Given the description of an element on the screen output the (x, y) to click on. 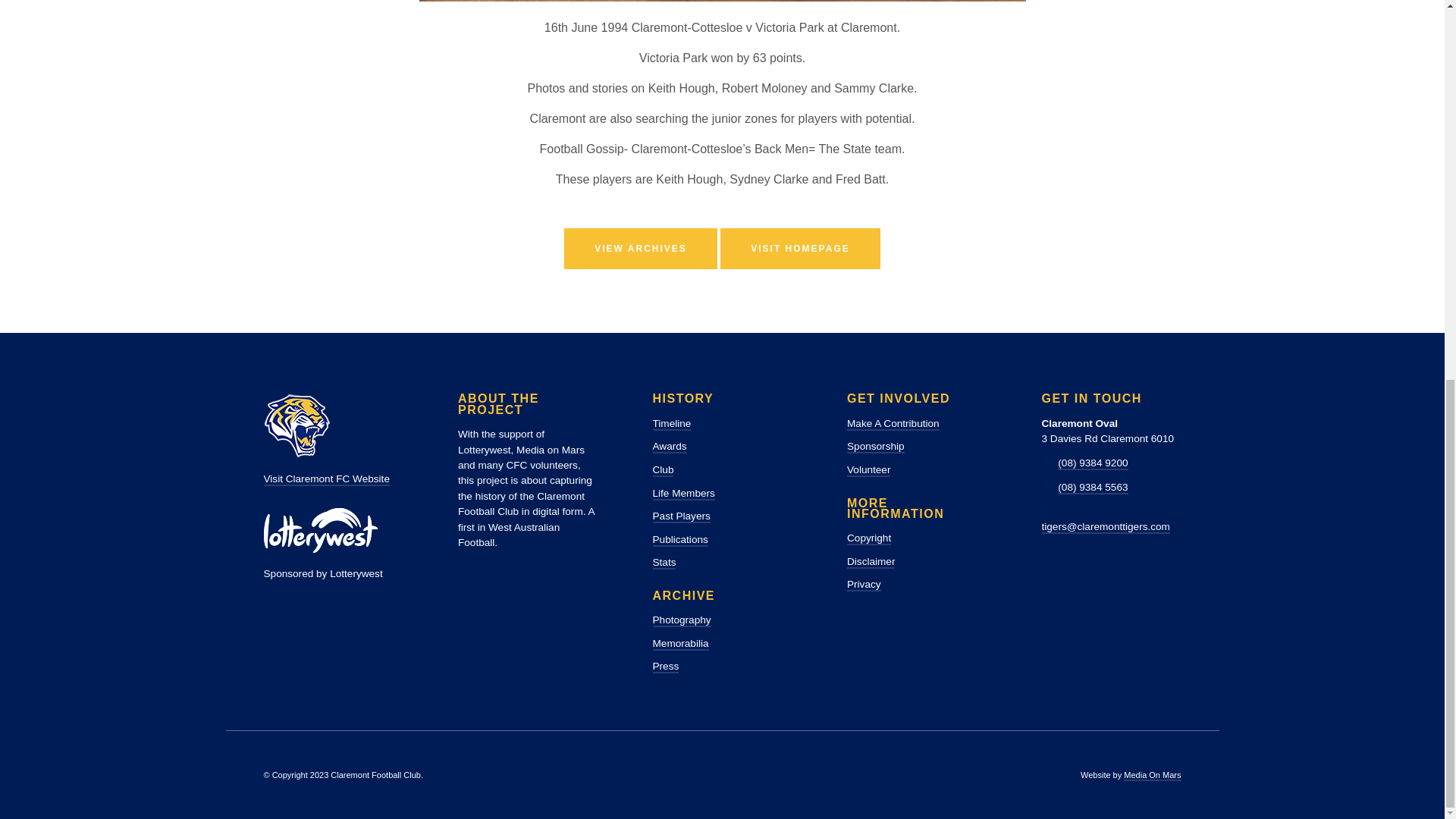
Photography (681, 620)
Stats (663, 562)
VISIT HOMEPAGE (799, 248)
Awards (668, 446)
Past Players (681, 516)
Club (662, 470)
VIEW ARCHIVES (640, 248)
Life Members (683, 493)
Memorabilia (679, 644)
Publications (679, 540)
Timeline (671, 423)
Make A Contribution (893, 423)
Visit Claremont FC Website (326, 479)
Press (665, 666)
